Given the description of an element on the screen output the (x, y) to click on. 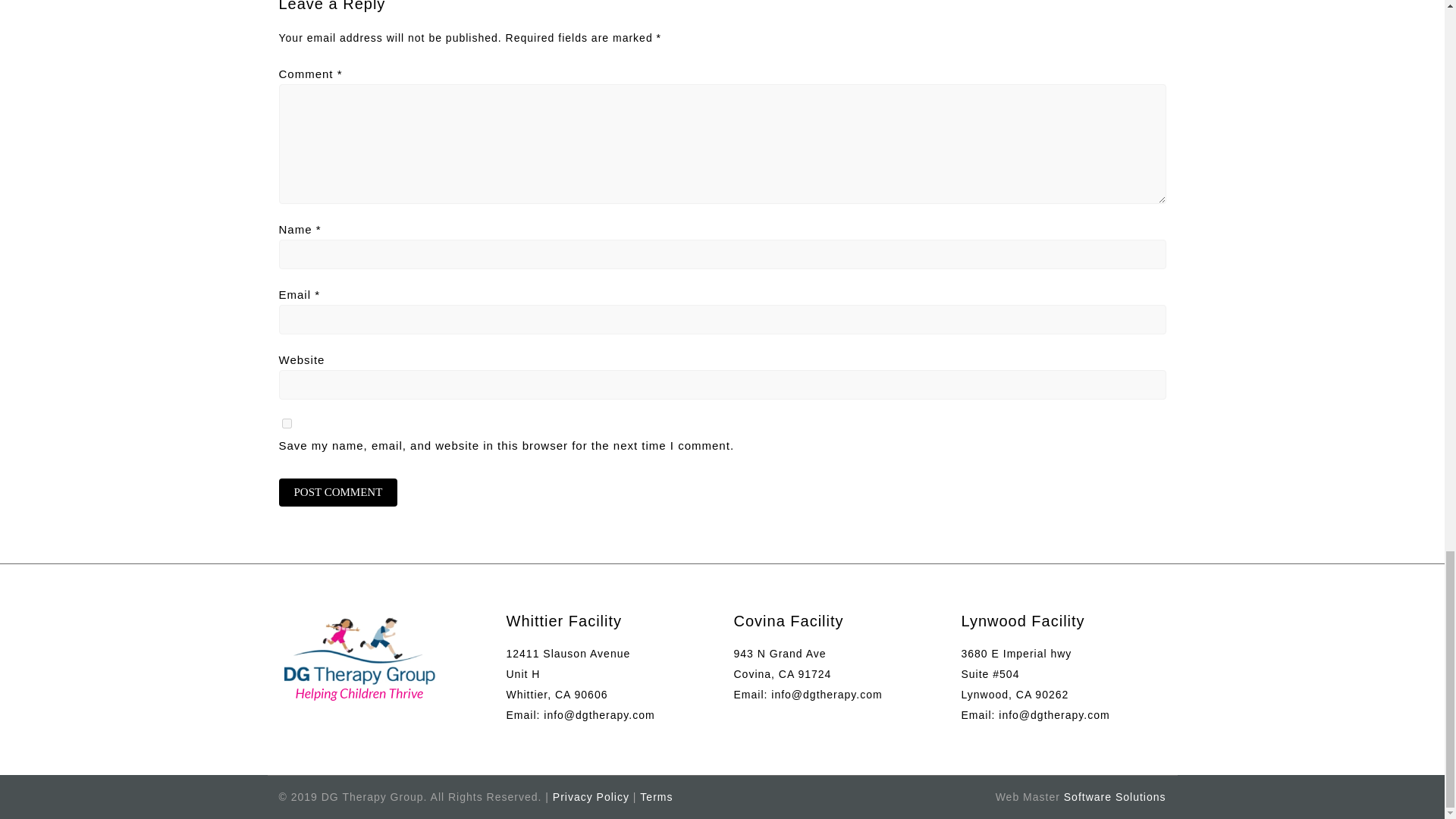
yes (287, 423)
Post Comment (338, 492)
